Given the description of an element on the screen output the (x, y) to click on. 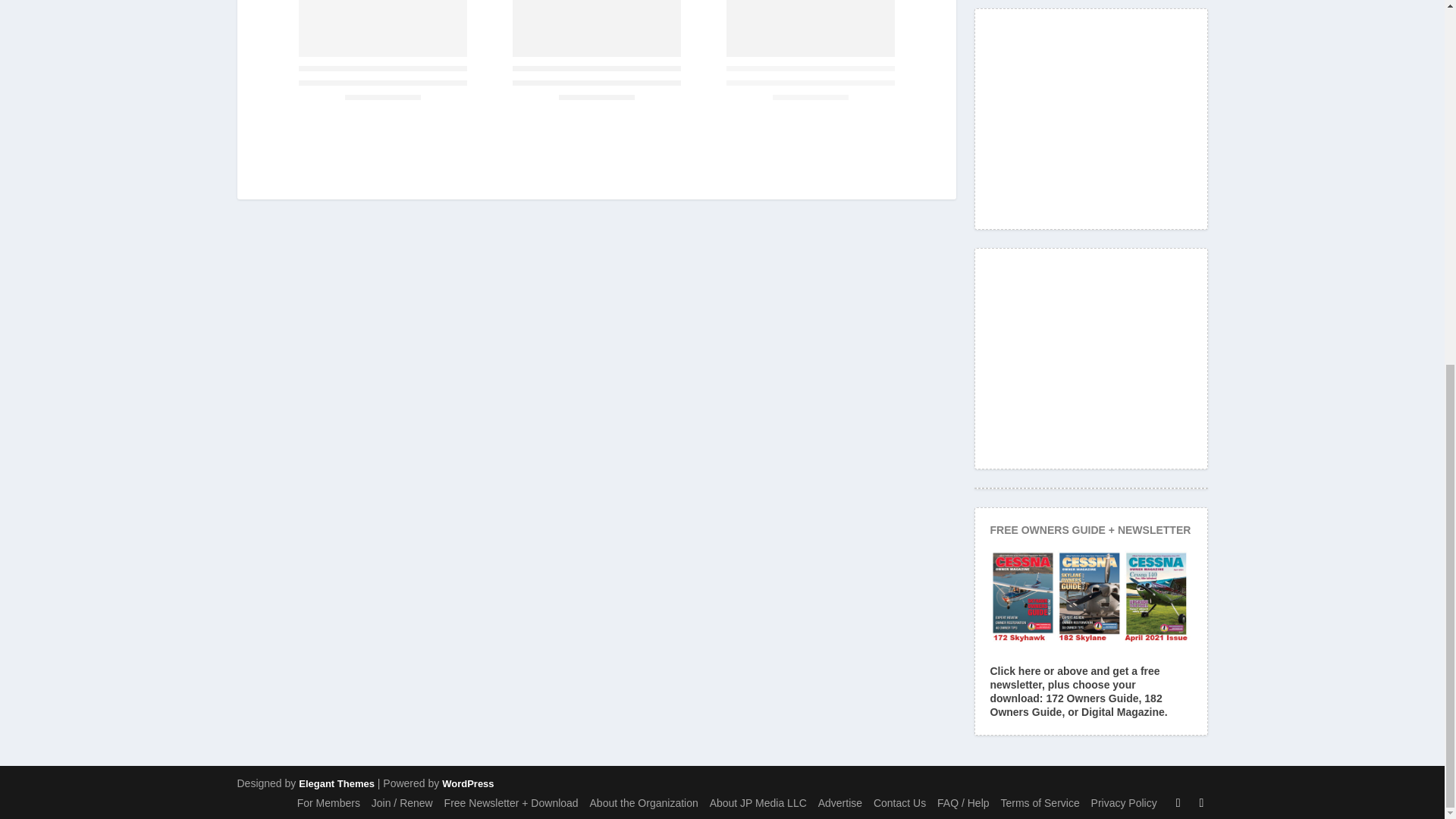
About the Organization (643, 802)
Elegant Themes (336, 783)
Privacy Policy (1123, 802)
Terms of Service (1039, 802)
WordPress (467, 783)
Premium WordPress Themes (336, 783)
Advertise (839, 802)
For Members (328, 802)
About JP Media LLC (758, 802)
Contact Us (899, 802)
